Given the description of an element on the screen output the (x, y) to click on. 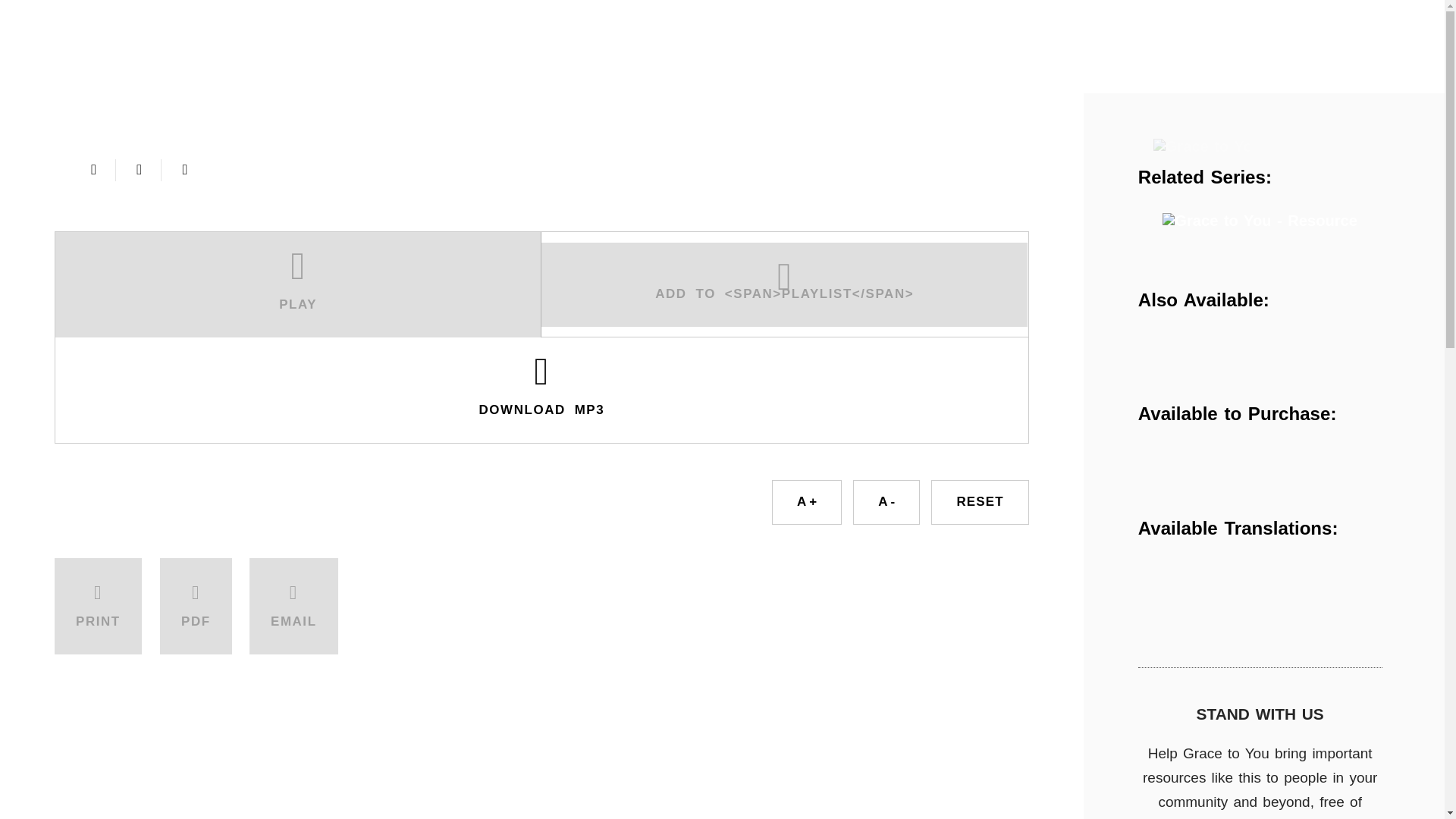
ABOUT (81, 76)
RESOURCES (318, 76)
DONATE (930, 76)
BROADCASTS (193, 76)
SERMONS (808, 76)
BLOG (594, 76)
LISTEN NOW (474, 29)
Grace-to-You (96, 32)
APPS (519, 76)
STORE (417, 76)
800-55-GRACE (1240, 28)
Grace to You (1201, 145)
DEVOTIONALS (694, 76)
Grace-to-You (96, 31)
